Given the description of an element on the screen output the (x, y) to click on. 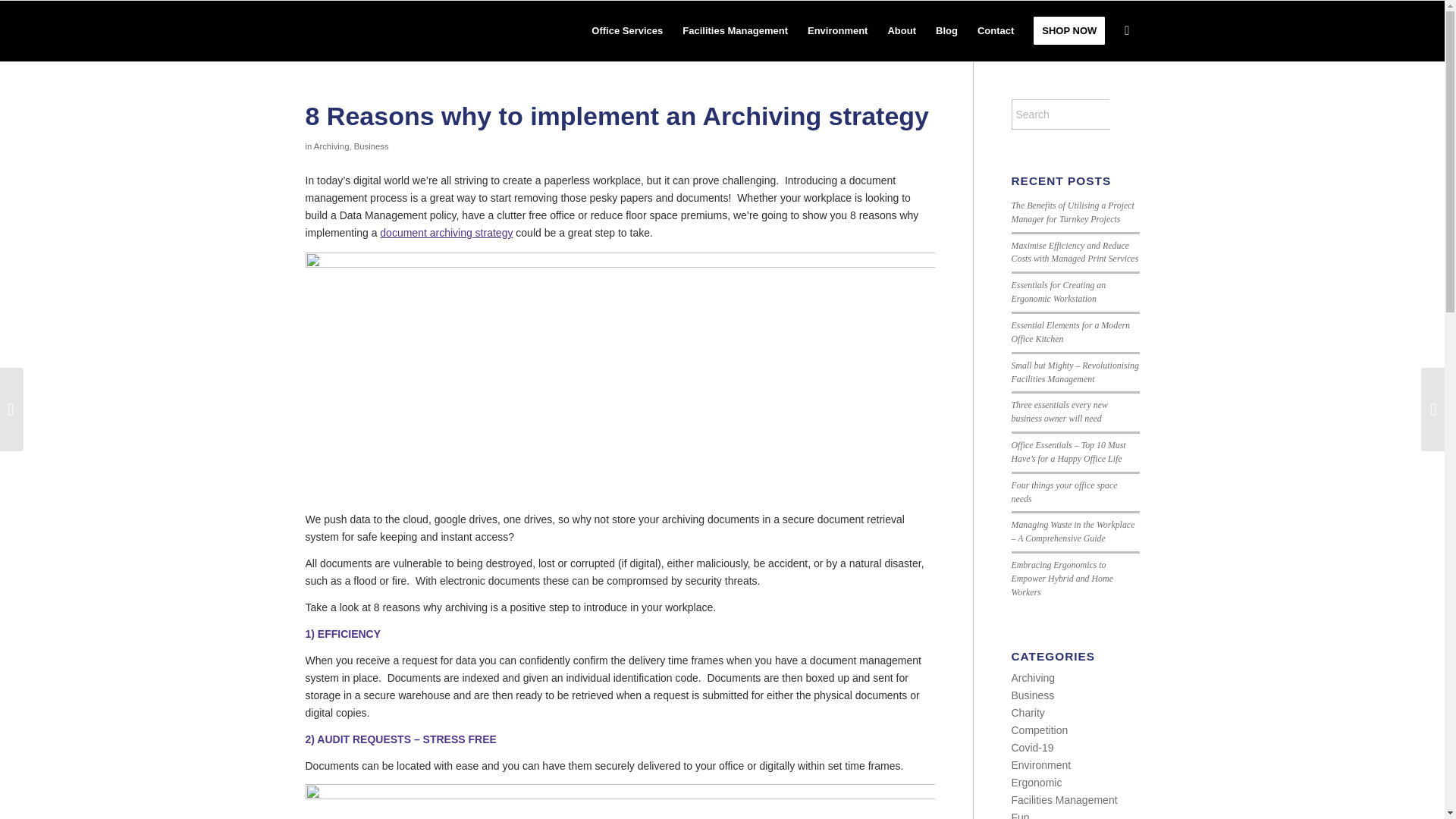
Contact (995, 30)
Environment (837, 30)
SHOP NOW (1069, 30)
Archiving (331, 145)
Click to start search (1123, 114)
Office Services (626, 30)
Facilities Management (734, 30)
